Given the description of an element on the screen output the (x, y) to click on. 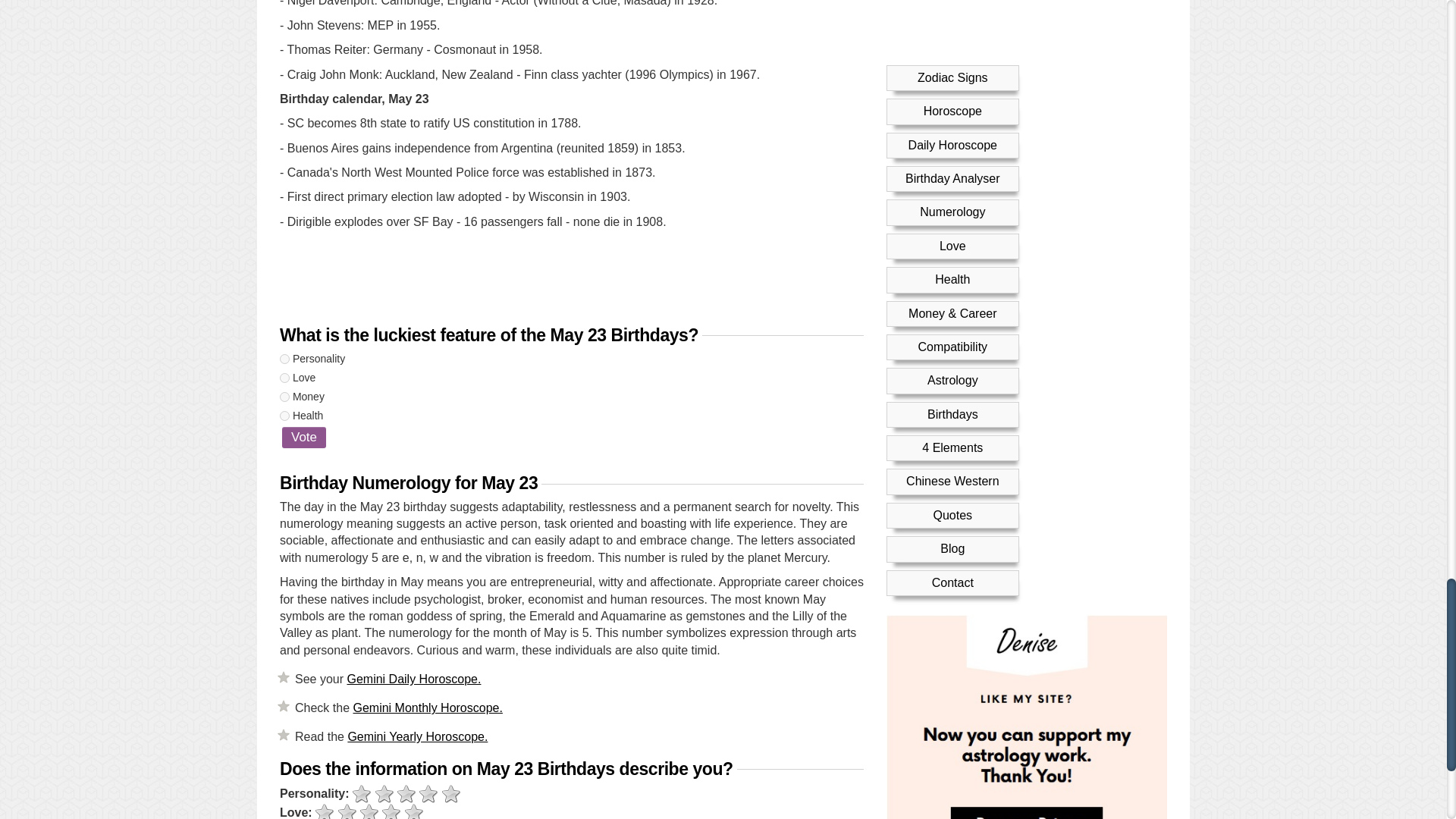
Not at All (361, 793)
Vote (304, 436)
q4 (284, 415)
Somewhat (346, 811)
q2 (284, 378)
Somewhat (383, 793)
q1 (284, 358)
Gemini August 2024 Monthly Horoscope (427, 707)
Advertisement (571, 279)
Good (391, 811)
